Given the description of an element on the screen output the (x, y) to click on. 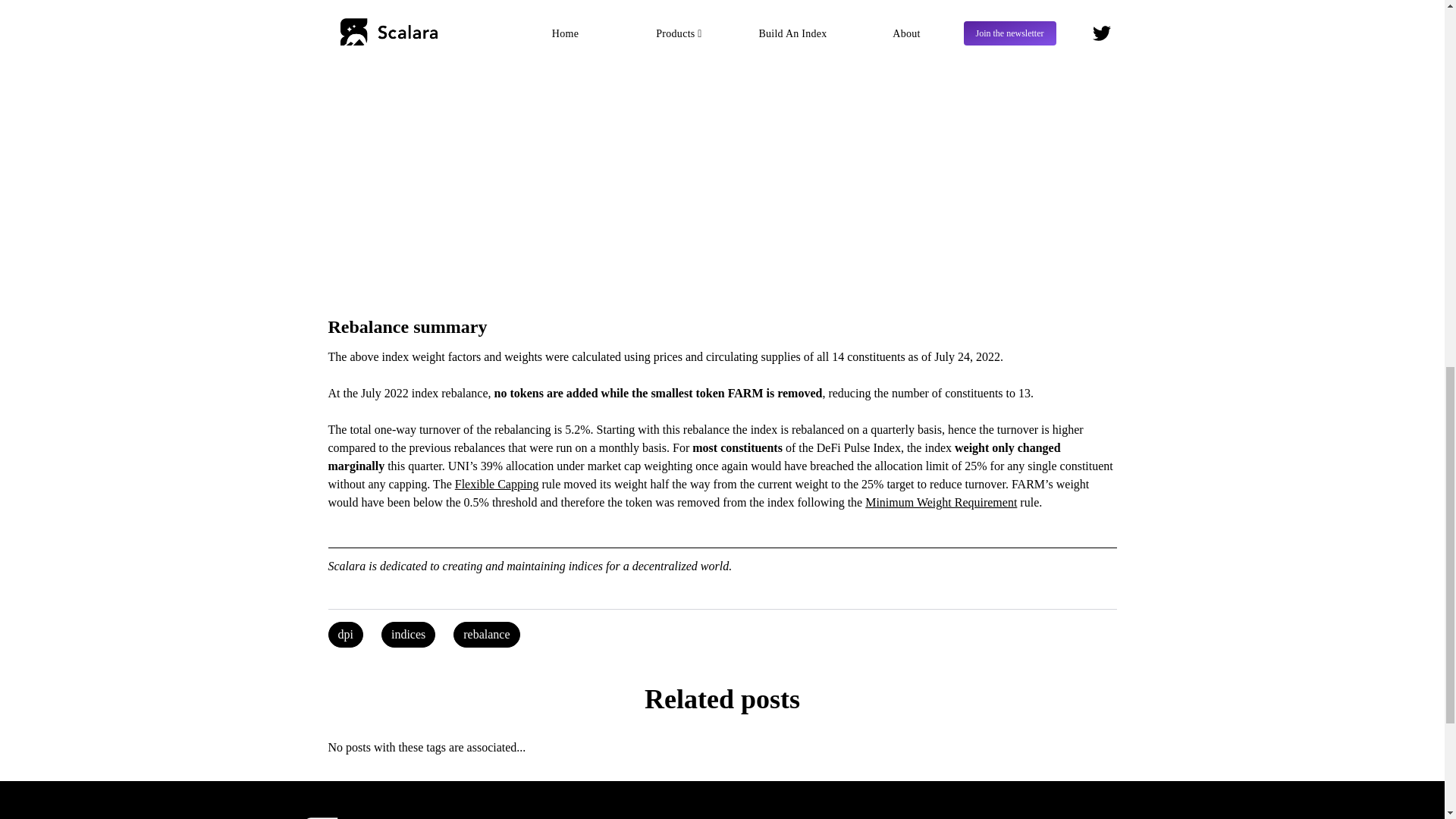
indices (408, 634)
Minimum Weight Requirement (940, 502)
Flexible Capping (496, 483)
rebalance (485, 634)
dpi (344, 634)
